Given the description of an element on the screen output the (x, y) to click on. 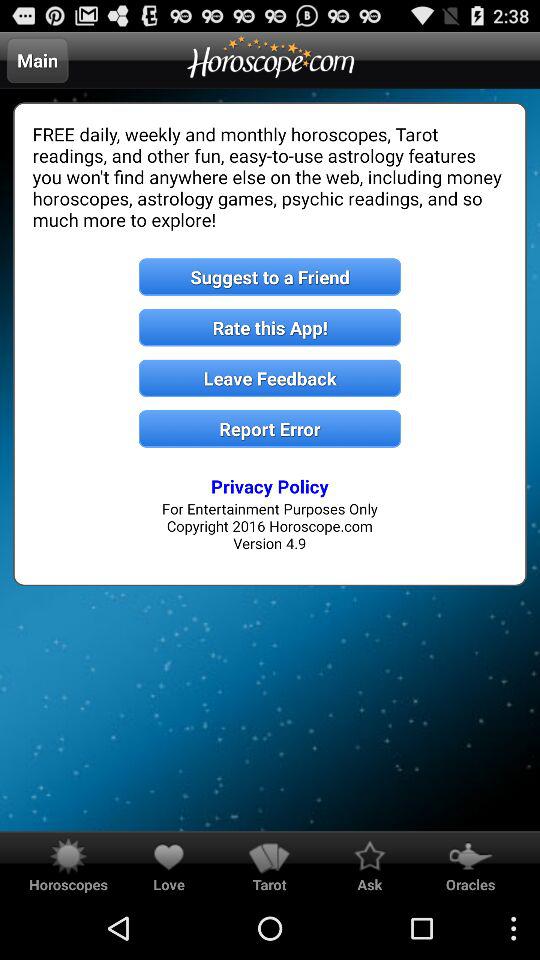
select app above free daily weekly (37, 60)
